Given the description of an element on the screen output the (x, y) to click on. 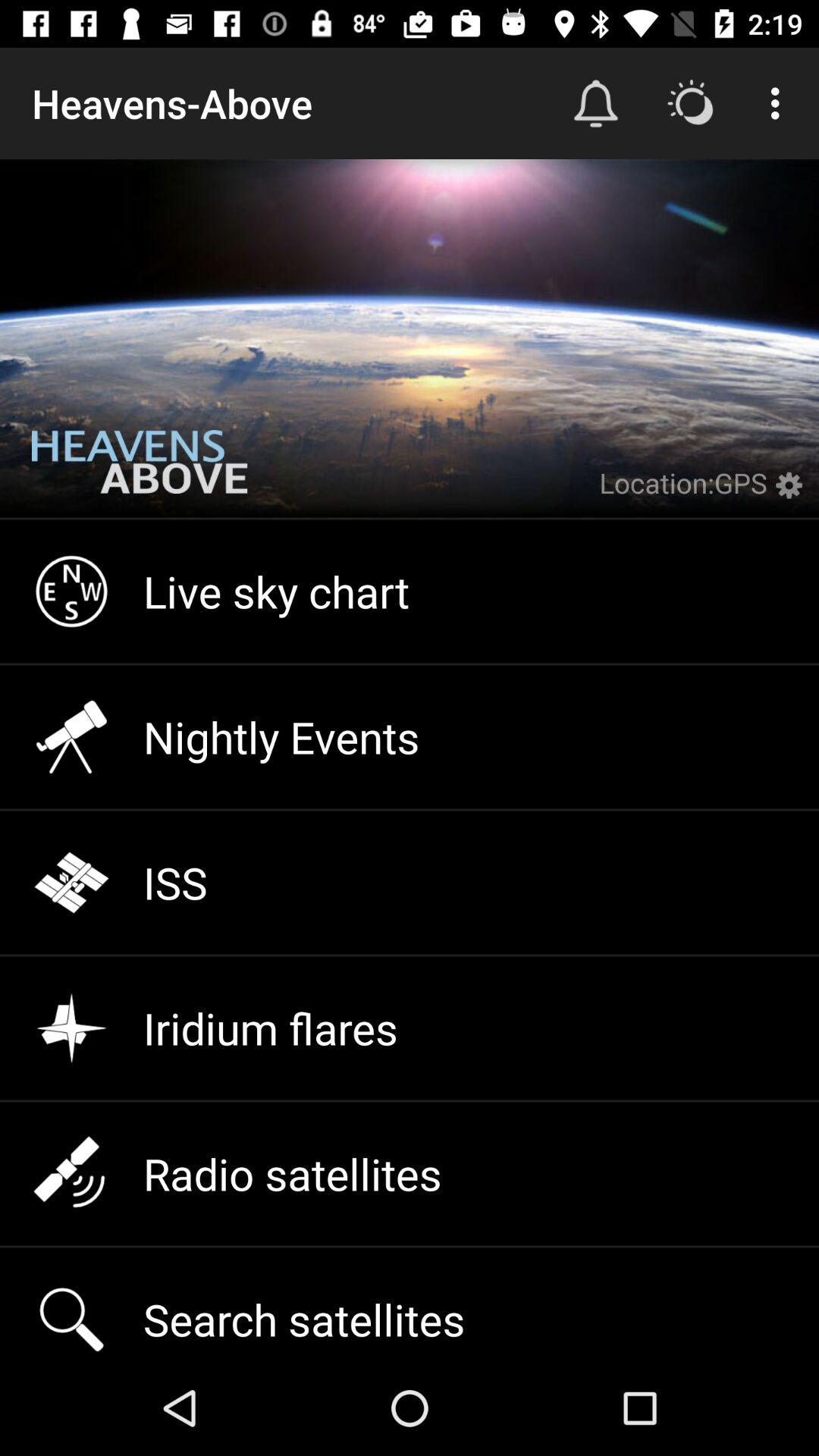
tap the icon next to the location:gps (793, 494)
